Given the description of an element on the screen output the (x, y) to click on. 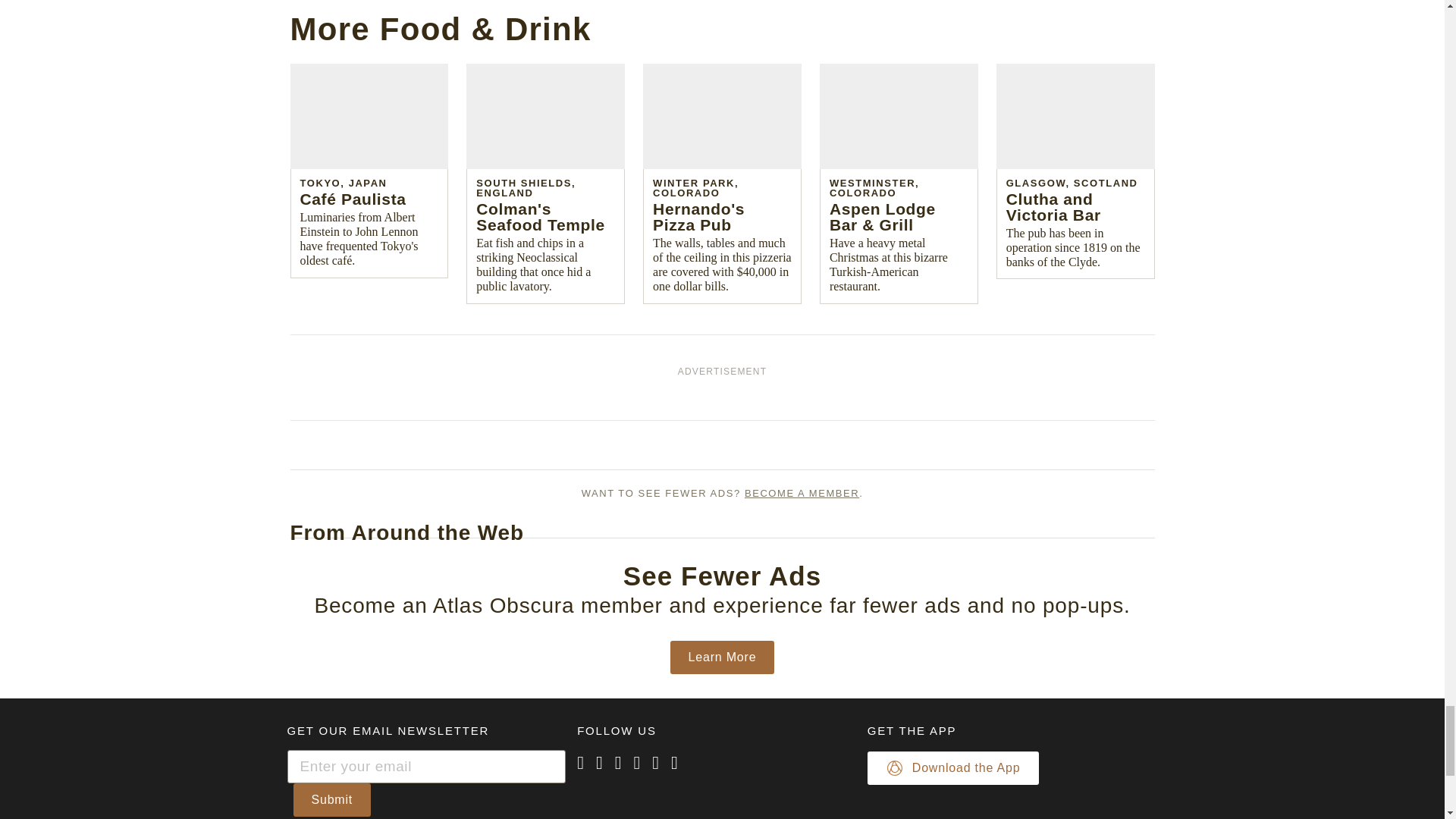
Submit (331, 799)
